Given the description of an element on the screen output the (x, y) to click on. 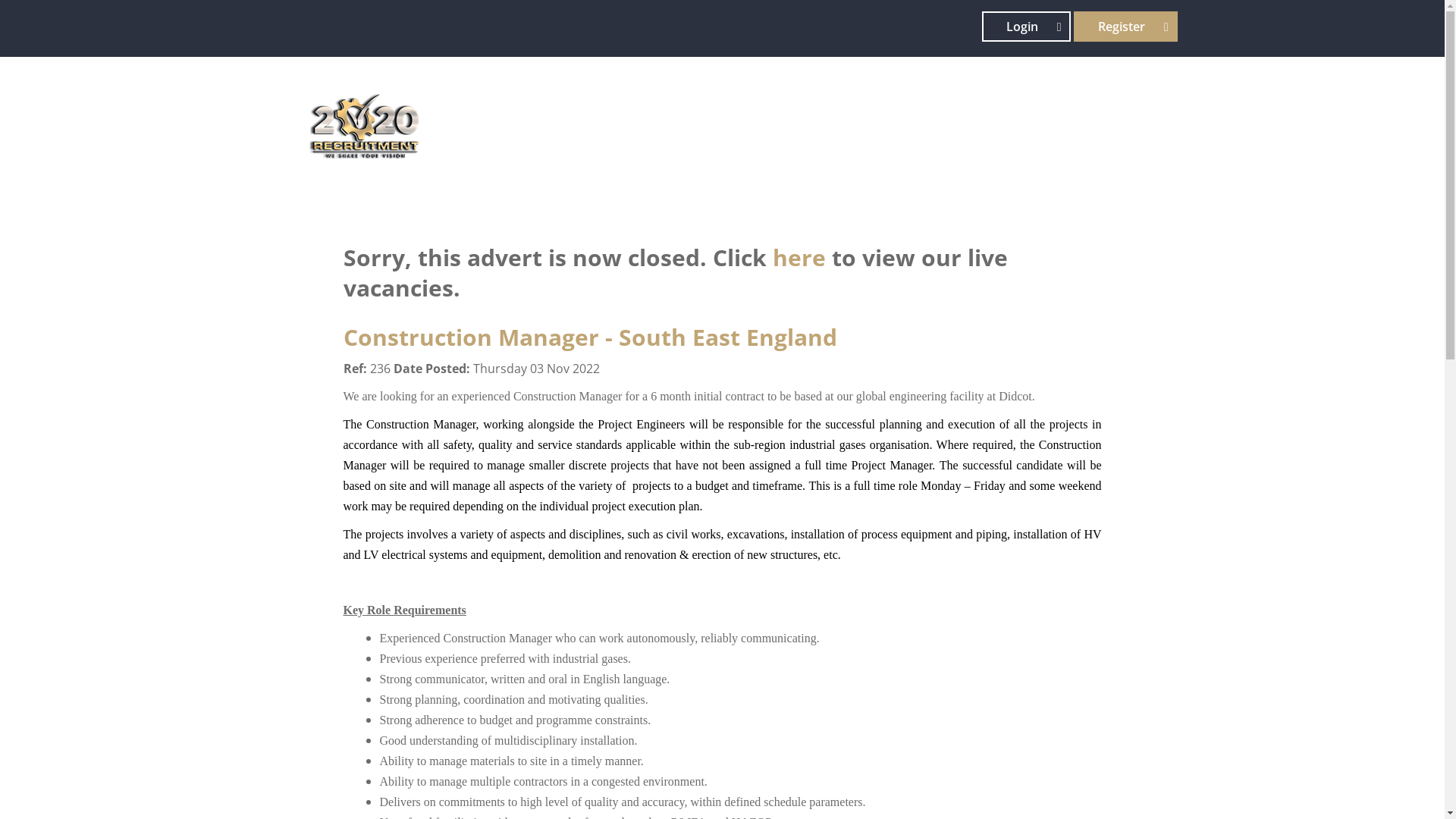
Login Element type: text (1026, 26)
Register Element type: text (1125, 26)
here Element type: text (798, 257)
